Given the description of an element on the screen output the (x, y) to click on. 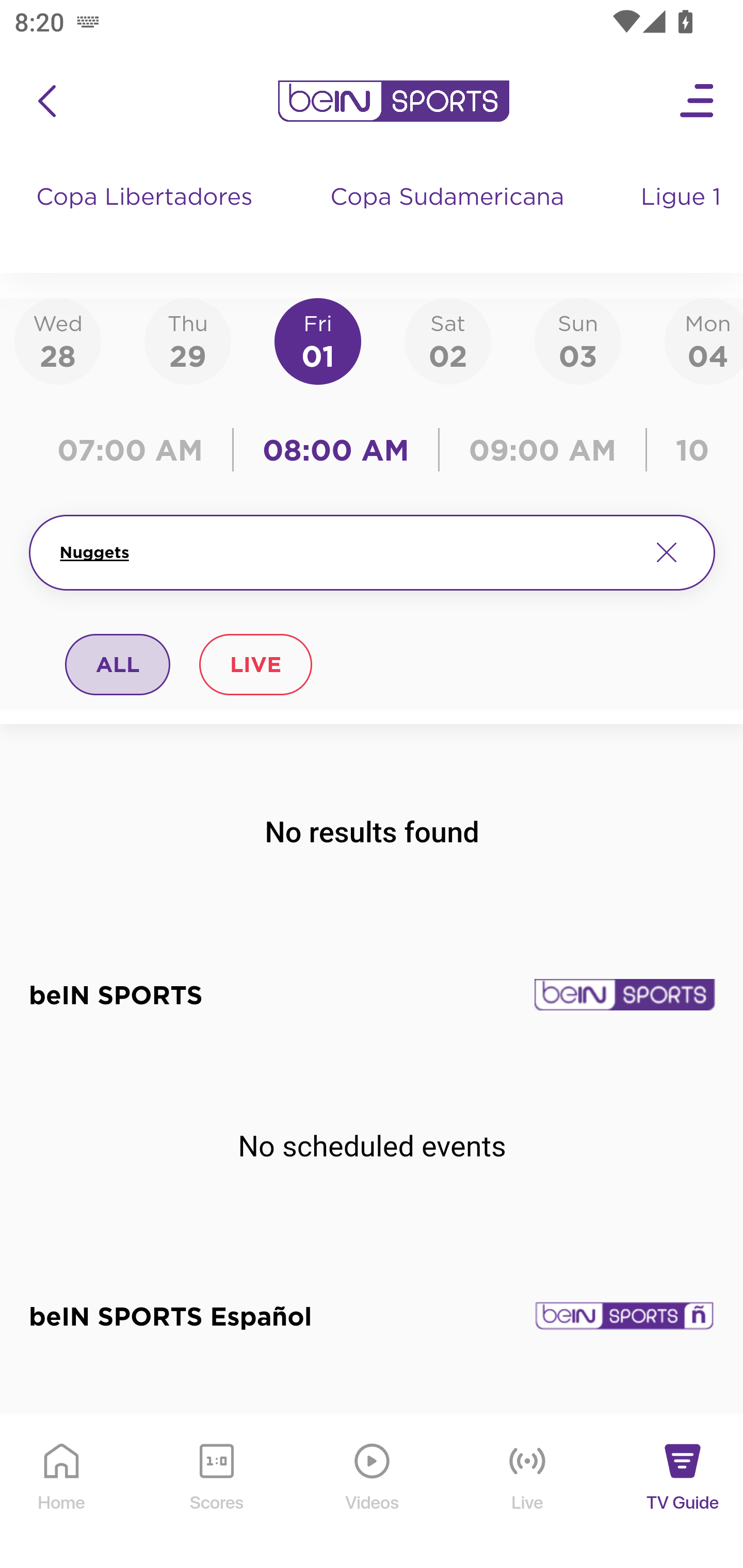
en-us?platform=mobile_android bein logo (392, 101)
icon back (46, 101)
Open Menu Icon (697, 101)
Copa Libertadores (146, 216)
Copa Sudamericana (448, 216)
Ligue 1 (682, 216)
Wed28 (58, 340)
Thu29 (187, 340)
Fri01 (318, 340)
Sat02 (447, 340)
Sun03 (578, 340)
Mon04 (703, 340)
07:00 AM (135, 449)
08:00 AM (336, 449)
09:00 AM (542, 449)
Nuggets (346, 552)
ALL (118, 663)
LIVE (255, 663)
Home Home Icon Home (61, 1491)
Scores Scores Icon Scores (216, 1491)
Videos Videos Icon Videos (372, 1491)
TV Guide TV Guide Icon TV Guide (682, 1491)
